Given the description of an element on the screen output the (x, y) to click on. 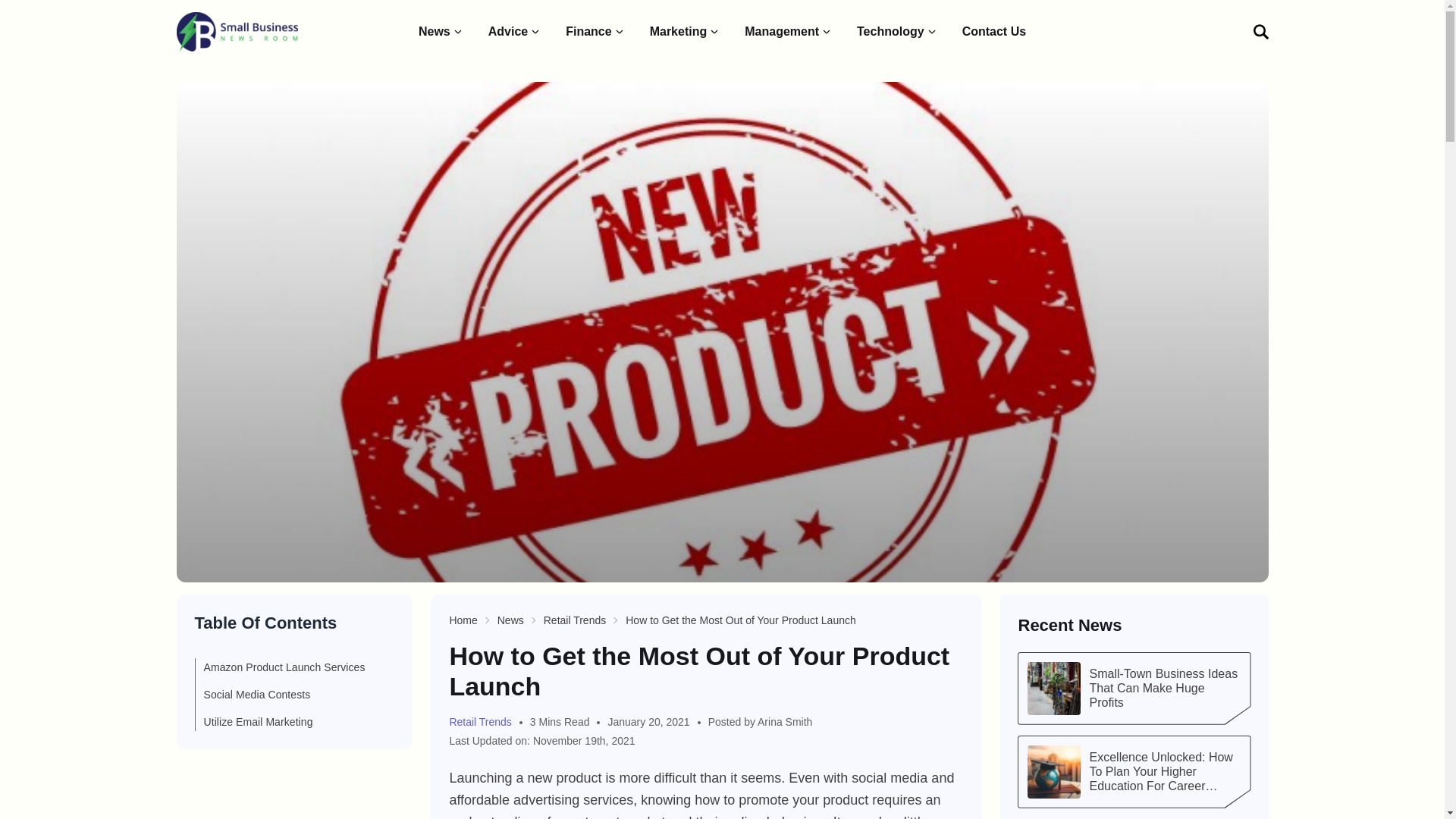
Retail Trends (484, 722)
Technology (897, 31)
Retail Trends (574, 620)
Advice (514, 31)
Finance (595, 31)
News (441, 31)
Subscribe (1195, 227)
Contact Us (994, 31)
Marketing (684, 31)
News (510, 620)
